Given the description of an element on the screen output the (x, y) to click on. 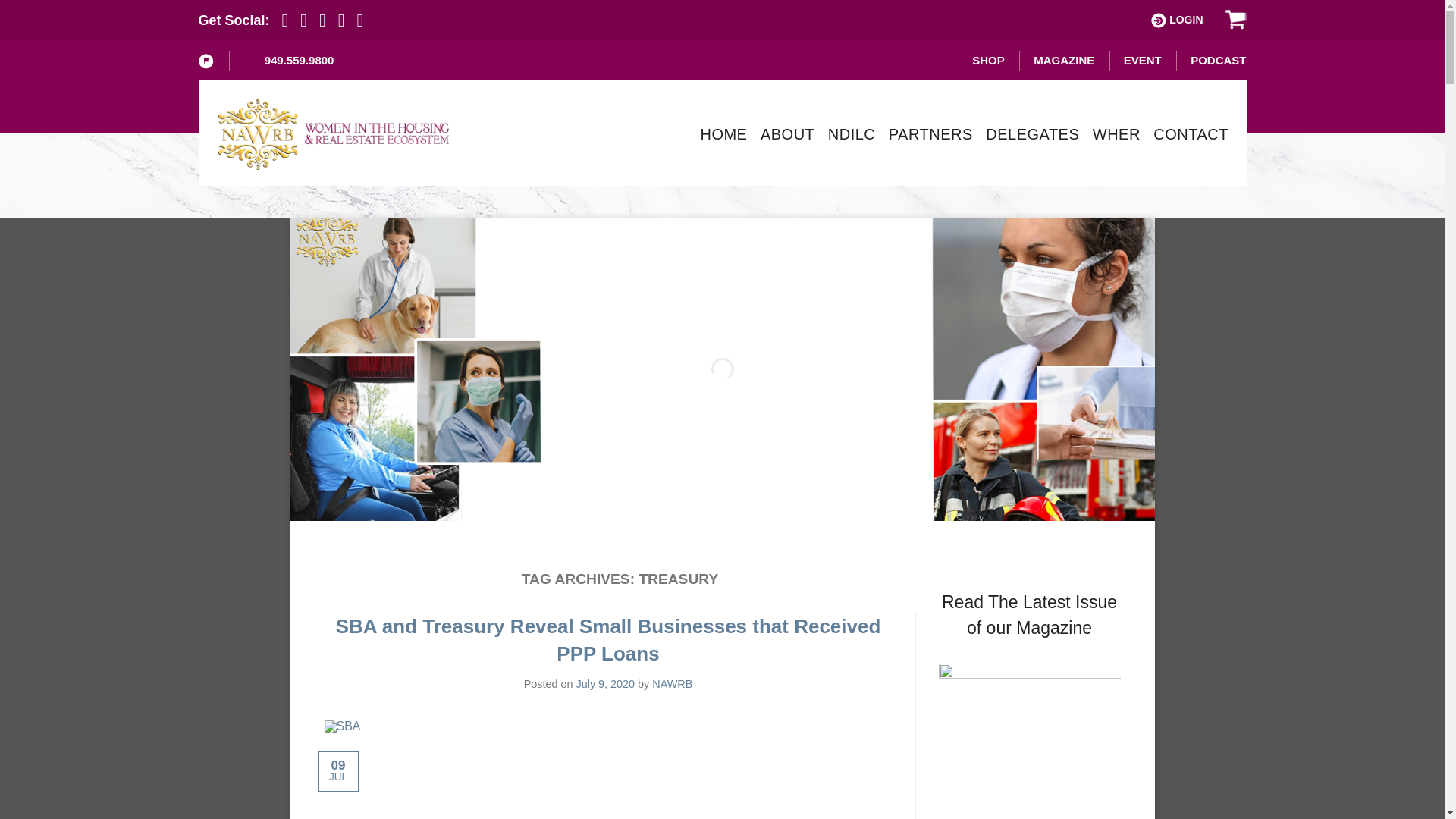
CONTACT (1190, 134)
ABOUT (786, 134)
LOGIN (1177, 20)
949.559.9800 (288, 60)
MAGAZINE (1063, 60)
WHER (1116, 134)
PARTNERS (930, 134)
NDILC (852, 134)
EVENT (1142, 60)
DELEGATES (1031, 134)
